Given the description of an element on the screen output the (x, y) to click on. 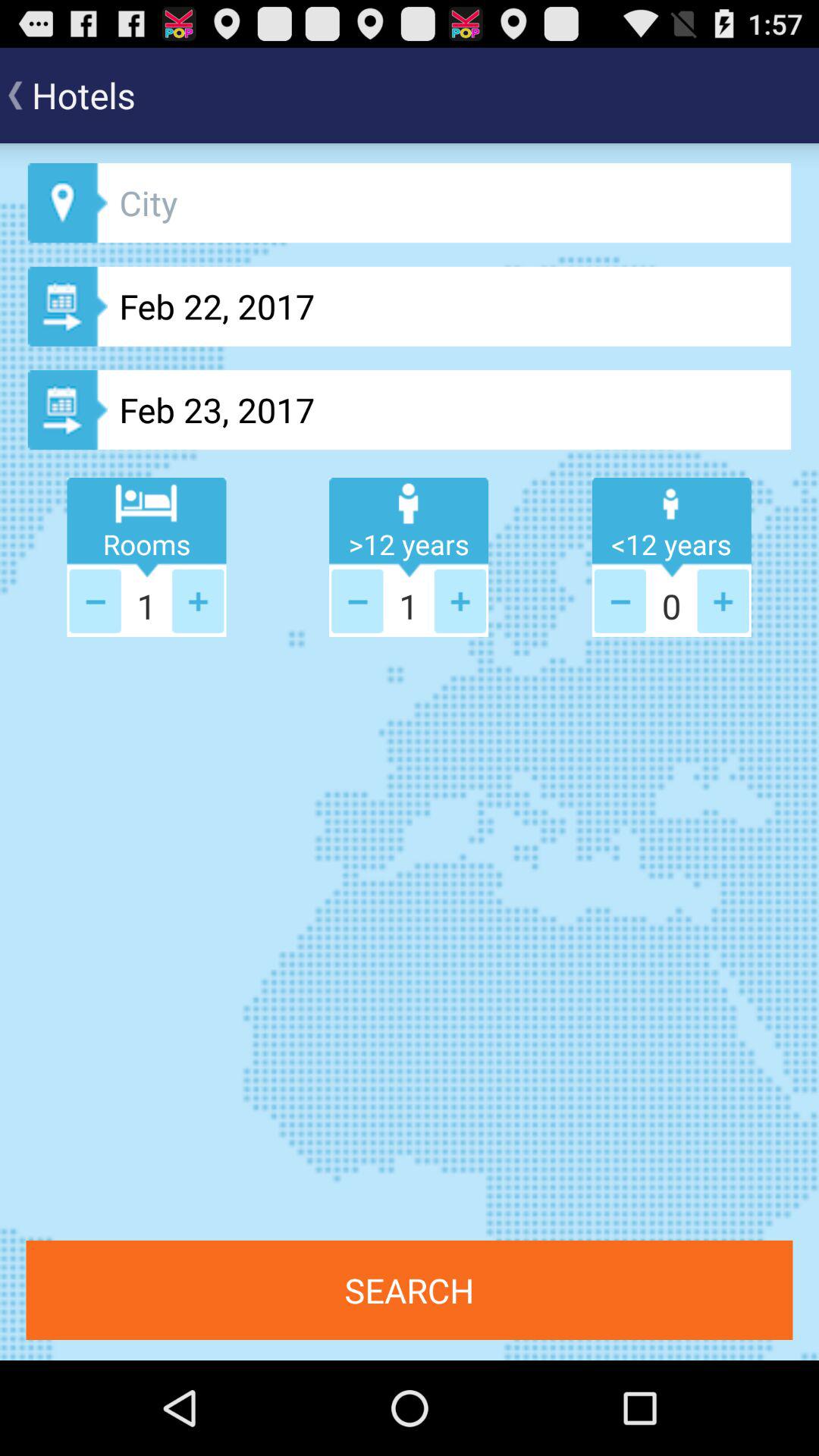
city (409, 202)
